Given the description of an element on the screen output the (x, y) to click on. 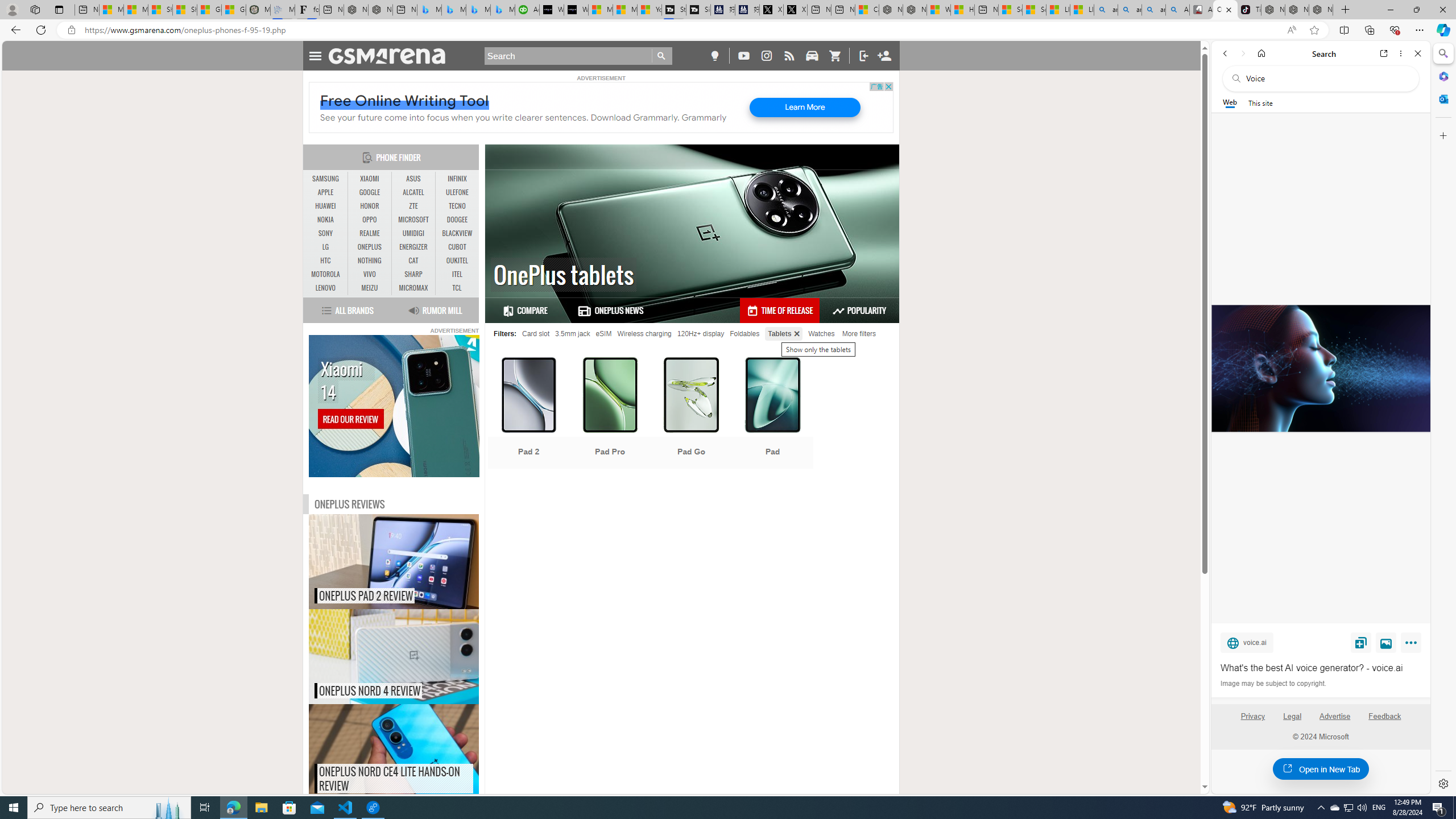
amazon - Search Images (1153, 9)
Toggle Navigation (314, 53)
OnePlus tablets (1224, 9)
ASUS (413, 178)
APPLE (325, 192)
Watches (821, 333)
